Given the description of an element on the screen output the (x, y) to click on. 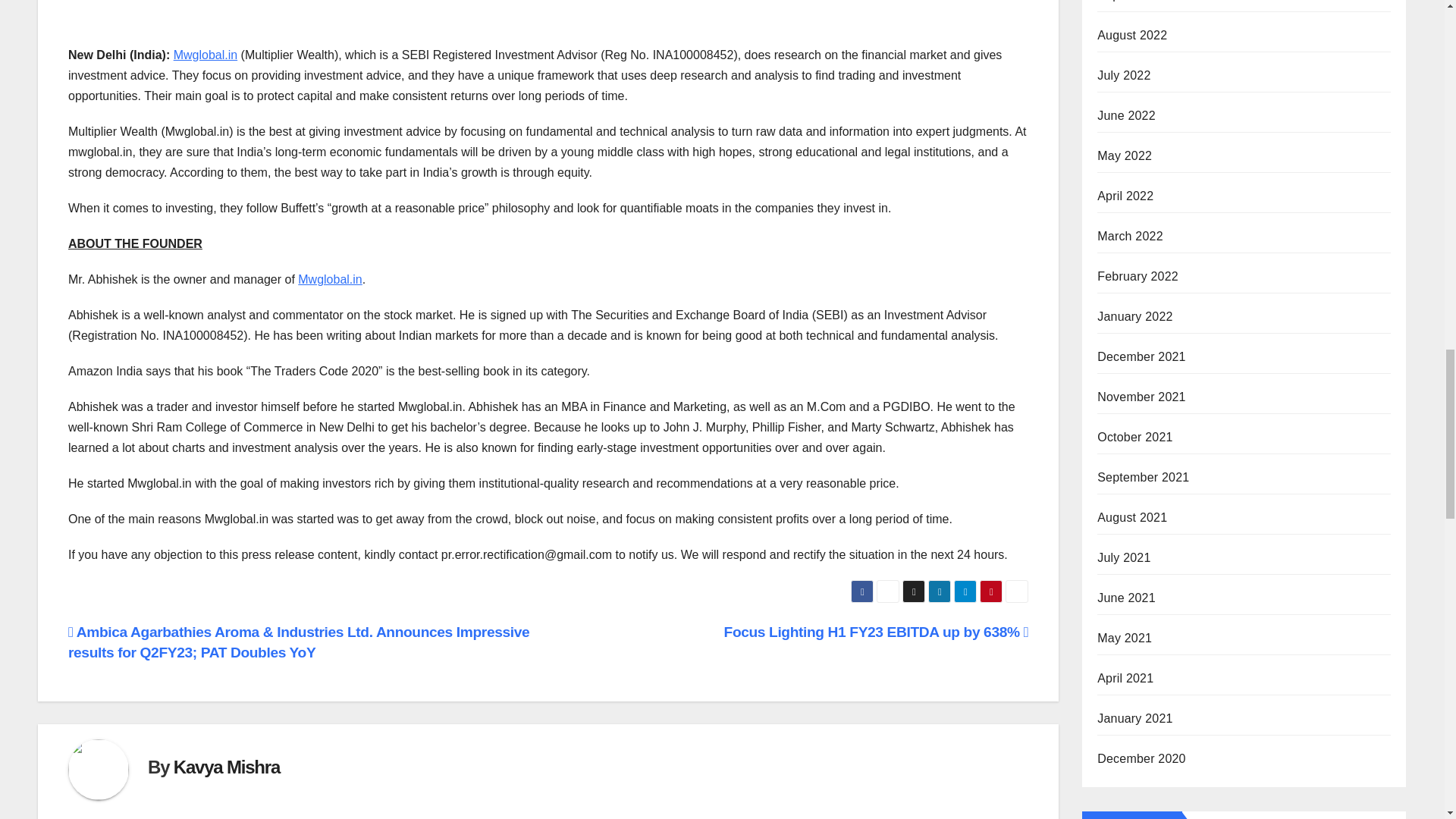
Mwglobal.in (205, 54)
Kavya Mishra (226, 766)
Mwglobal.in (329, 278)
